Given the description of an element on the screen output the (x, y) to click on. 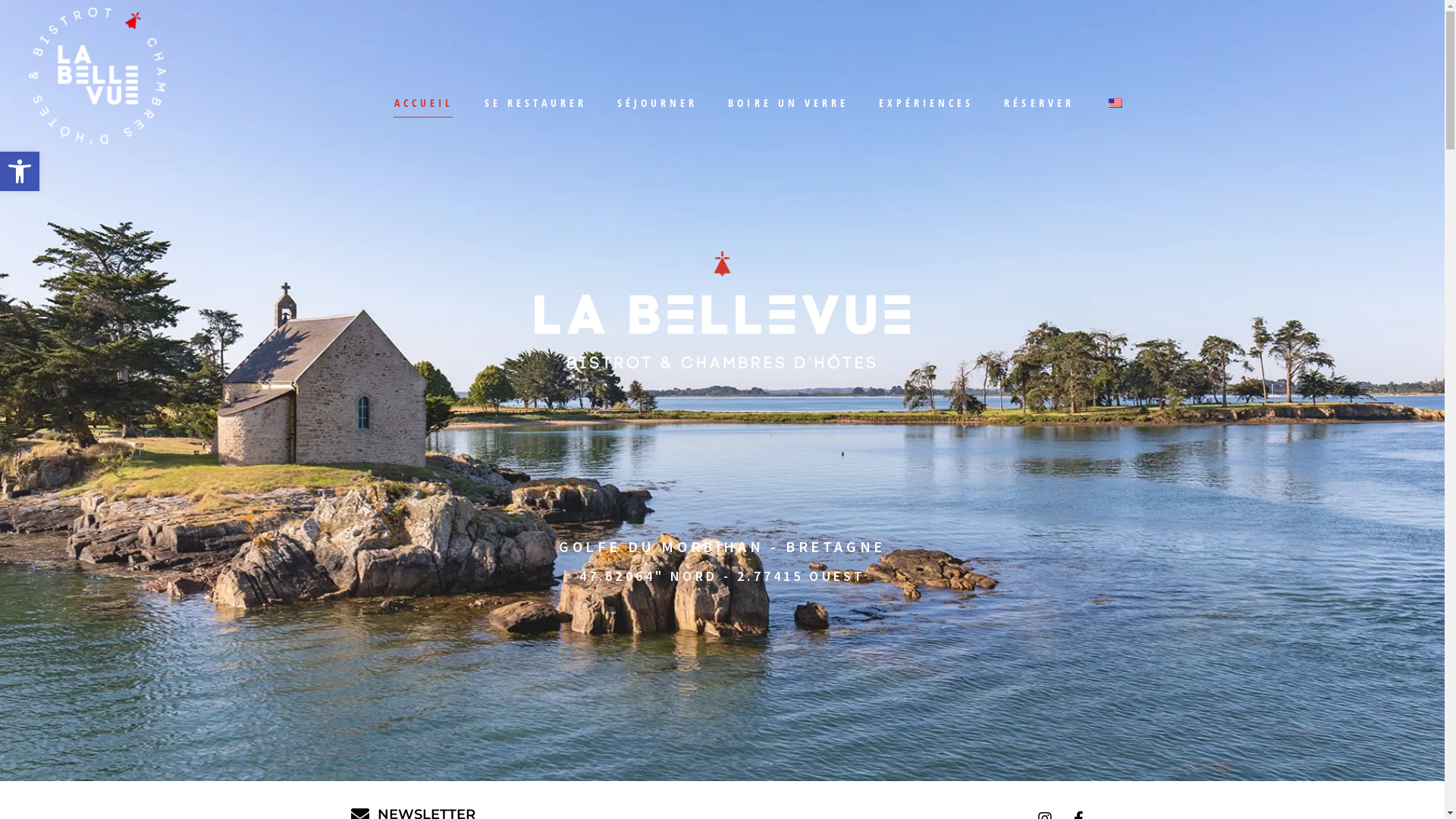
English Element type: hover (1115, 102)
ACCUEIL Element type: text (423, 102)
SE RESTAURER Element type: text (535, 102)
BOIRE UN VERRE Element type: text (787, 102)
